Given the description of an element on the screen output the (x, y) to click on. 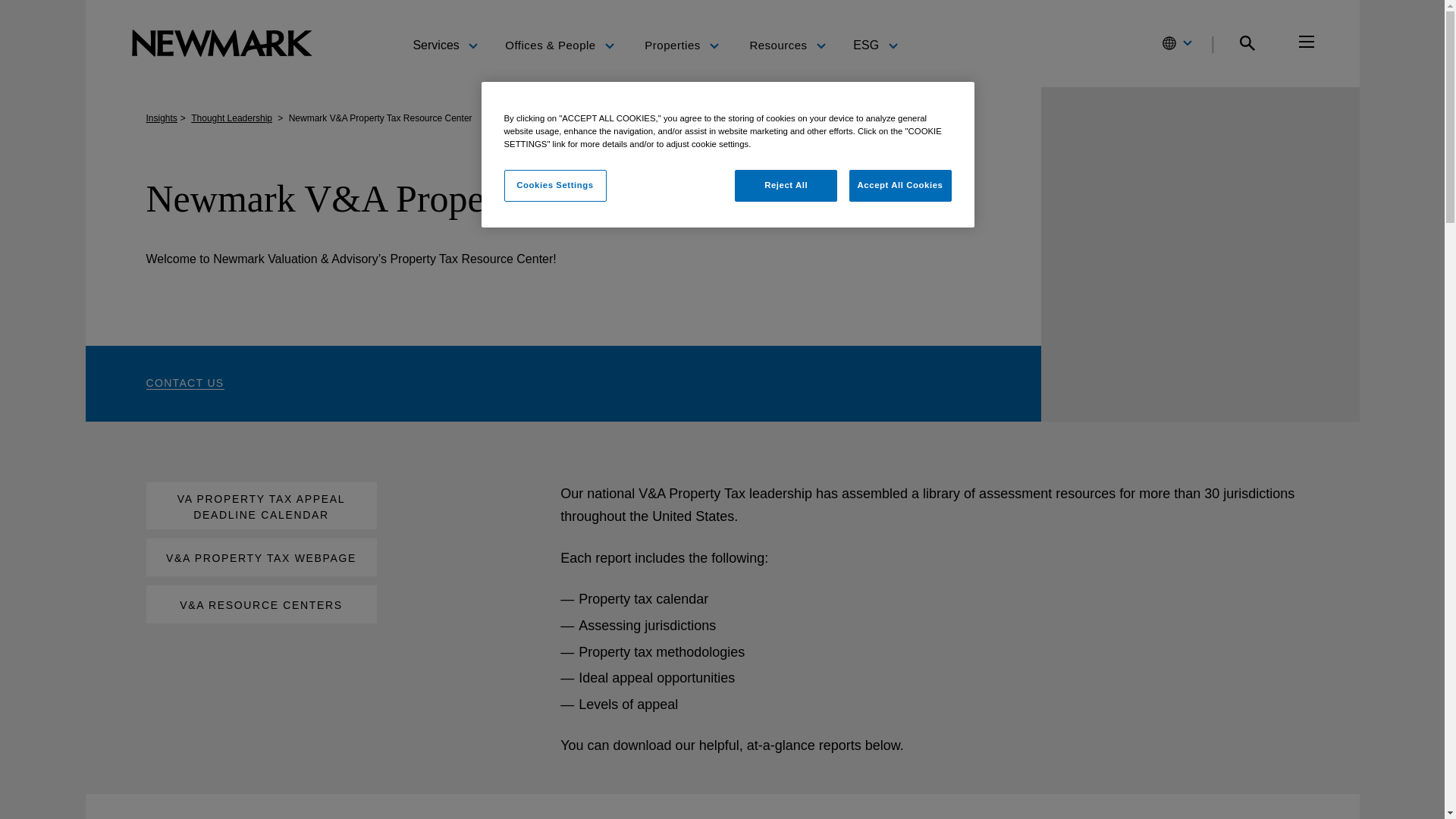
Properties (682, 45)
Resources (787, 45)
Services (444, 43)
